Given the description of an element on the screen output the (x, y) to click on. 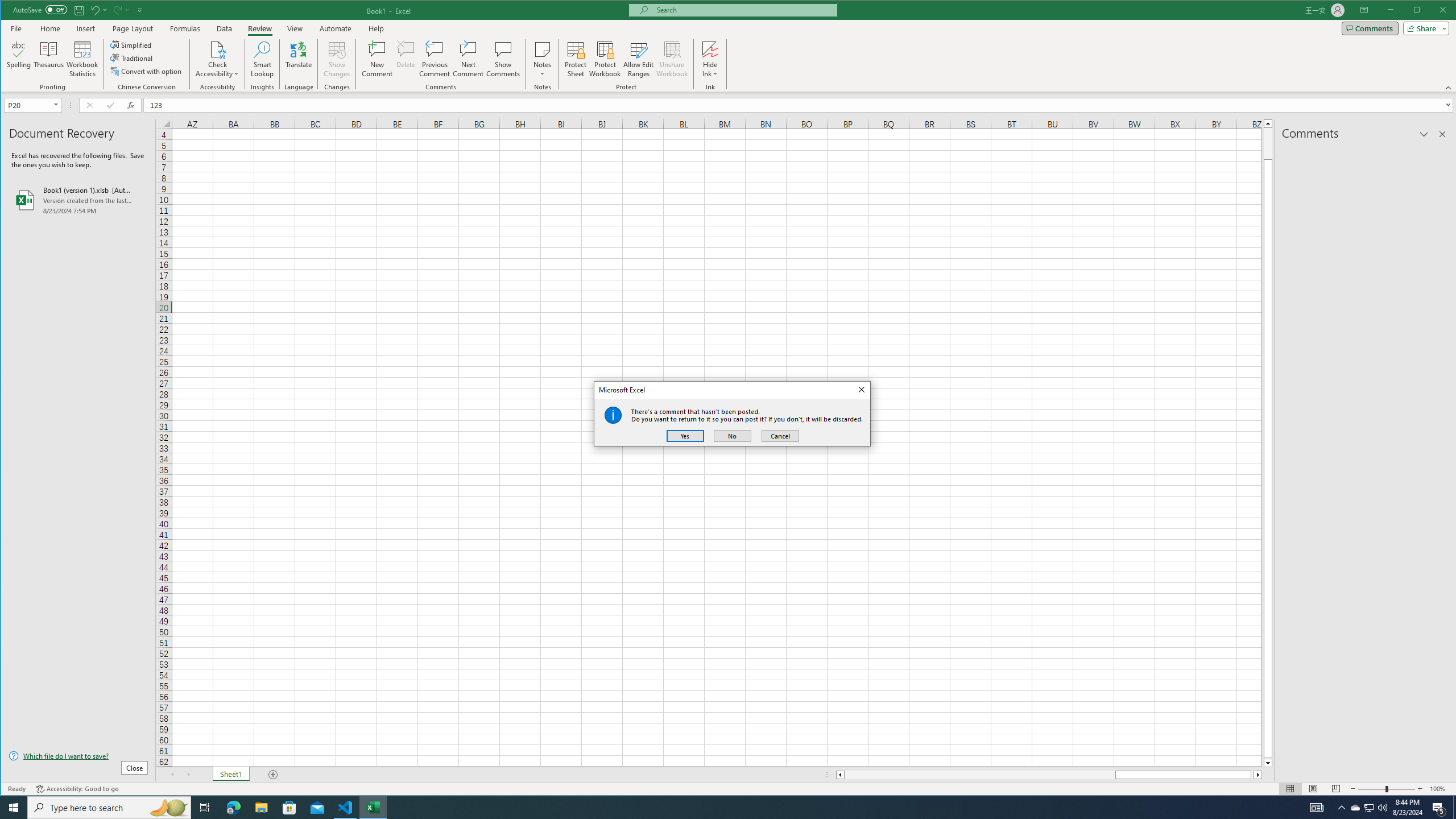
Traditional (132, 57)
Which file do I want to save? (78, 755)
Class: MsoCommandBar (728, 45)
Page right (1251, 774)
Unshare Workbook (671, 59)
Check Accessibility (217, 48)
Maximize (1432, 11)
User Promoted Notification Area (1368, 807)
Task Pane Options (1423, 133)
AutoSave (39, 9)
